Given the description of an element on the screen output the (x, y) to click on. 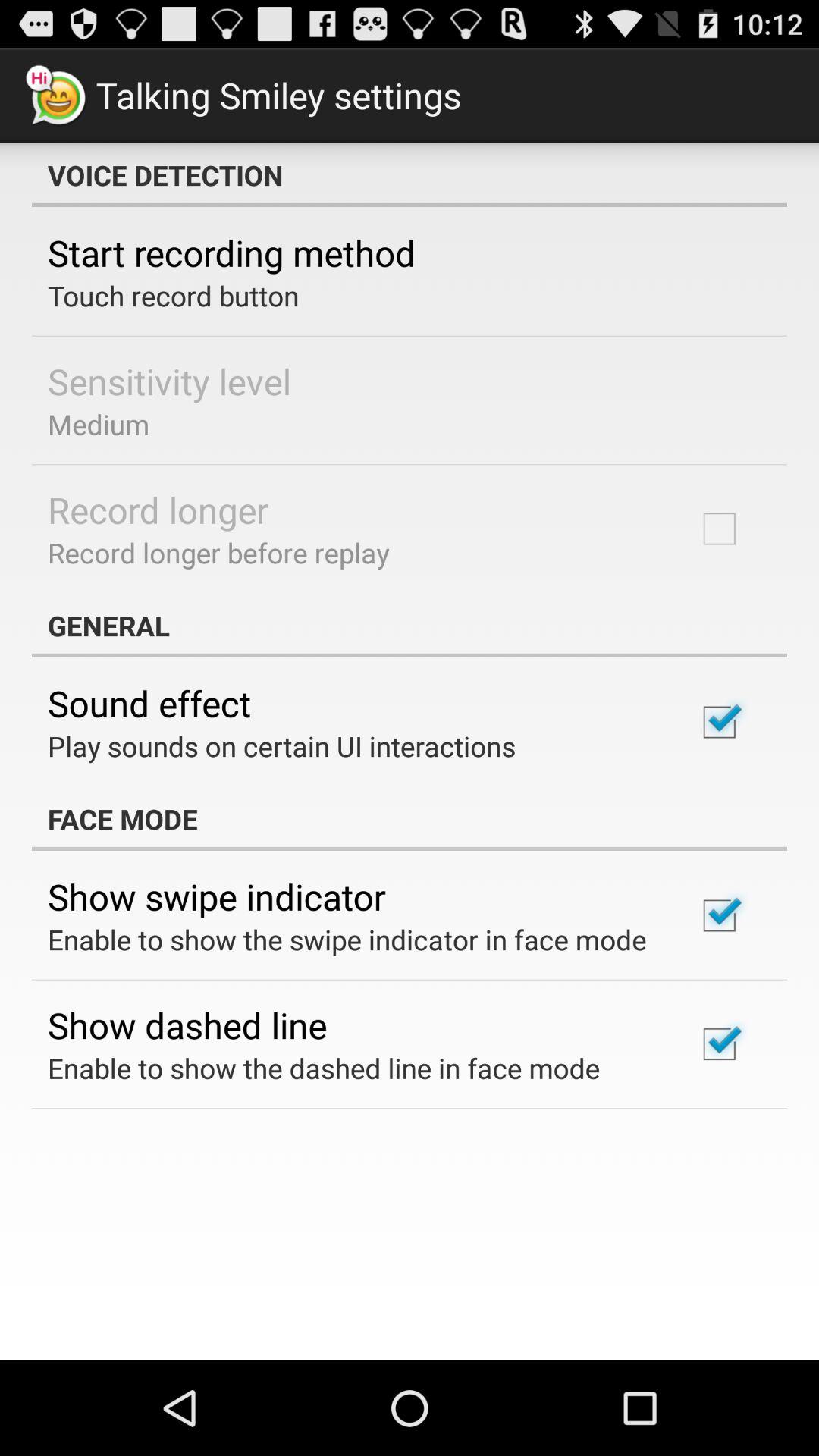
click the item above face mode (281, 745)
